Given the description of an element on the screen output the (x, y) to click on. 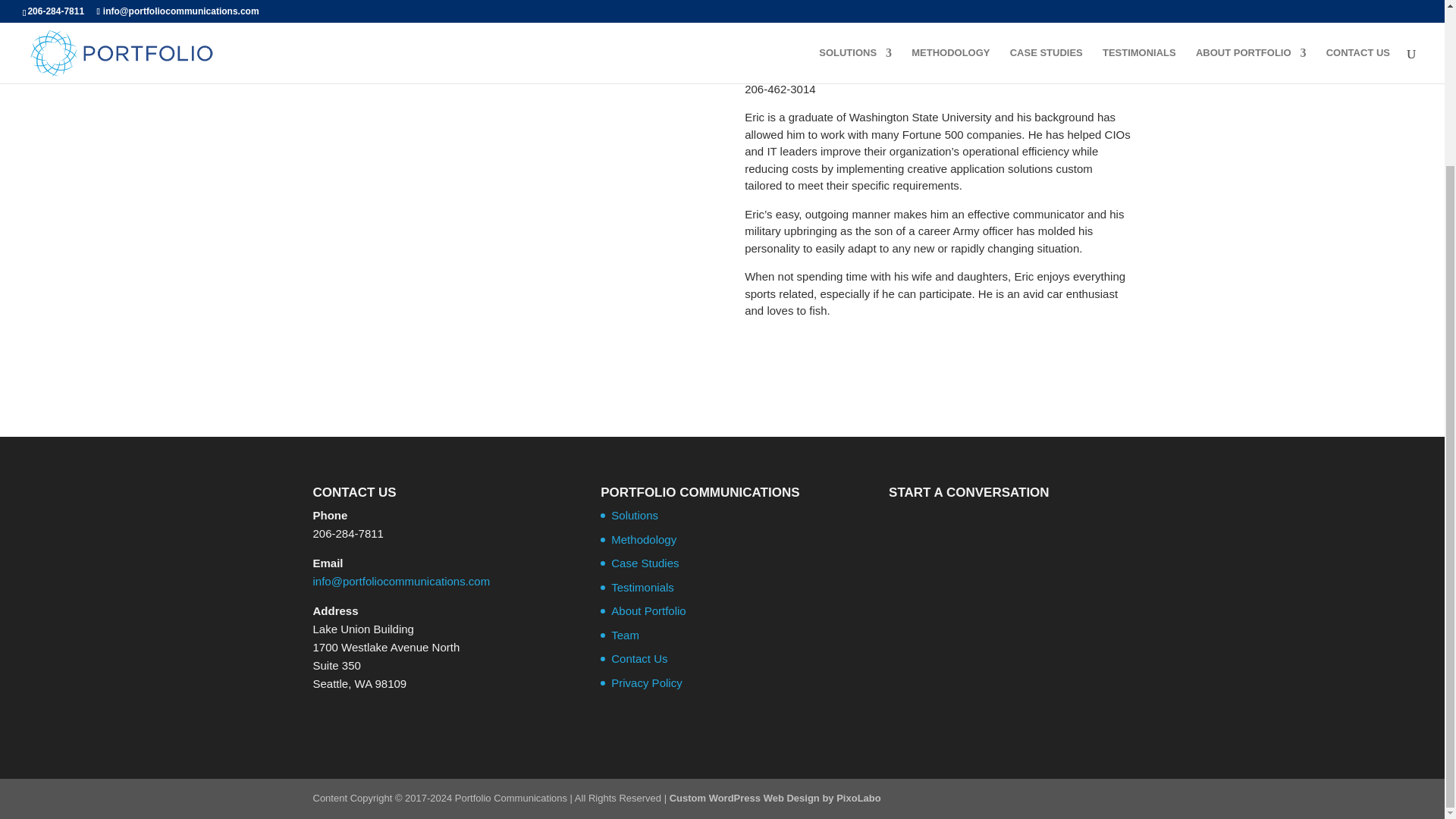
Privacy Policy (646, 682)
Team (625, 634)
Methodology (644, 539)
Custom WordPress Web Design by PixoLabo (774, 797)
About Portfolio (648, 610)
Case Studies (644, 562)
Testimonials (642, 586)
Contact Us (638, 658)
Solutions (634, 514)
